Given the description of an element on the screen output the (x, y) to click on. 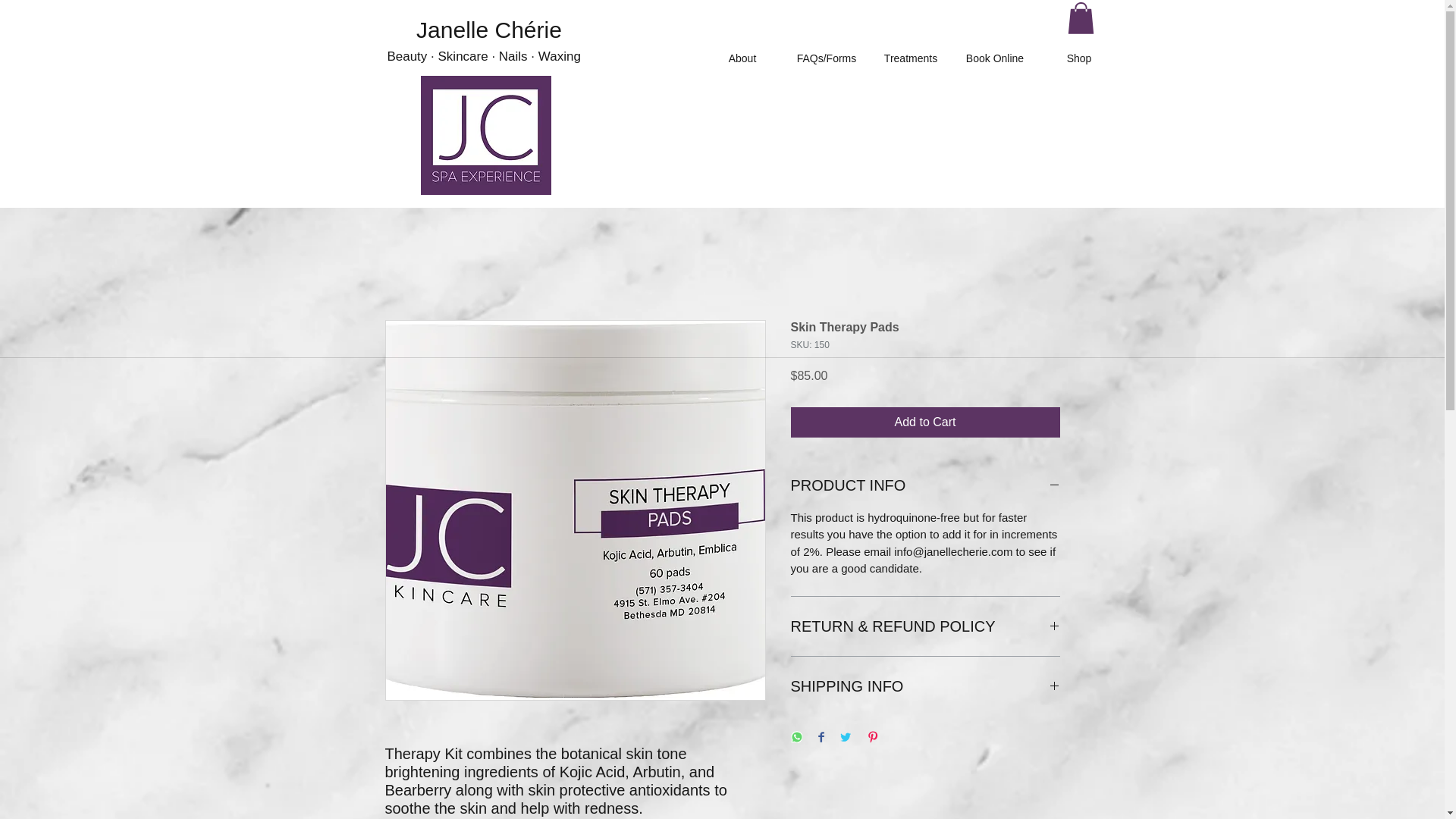
Shop (1078, 57)
PRODUCT INFO (924, 485)
About (742, 57)
Add to Cart (924, 422)
Book Online (994, 57)
Treatments (911, 57)
SHIPPING INFO (924, 685)
